Given the description of an element on the screen output the (x, y) to click on. 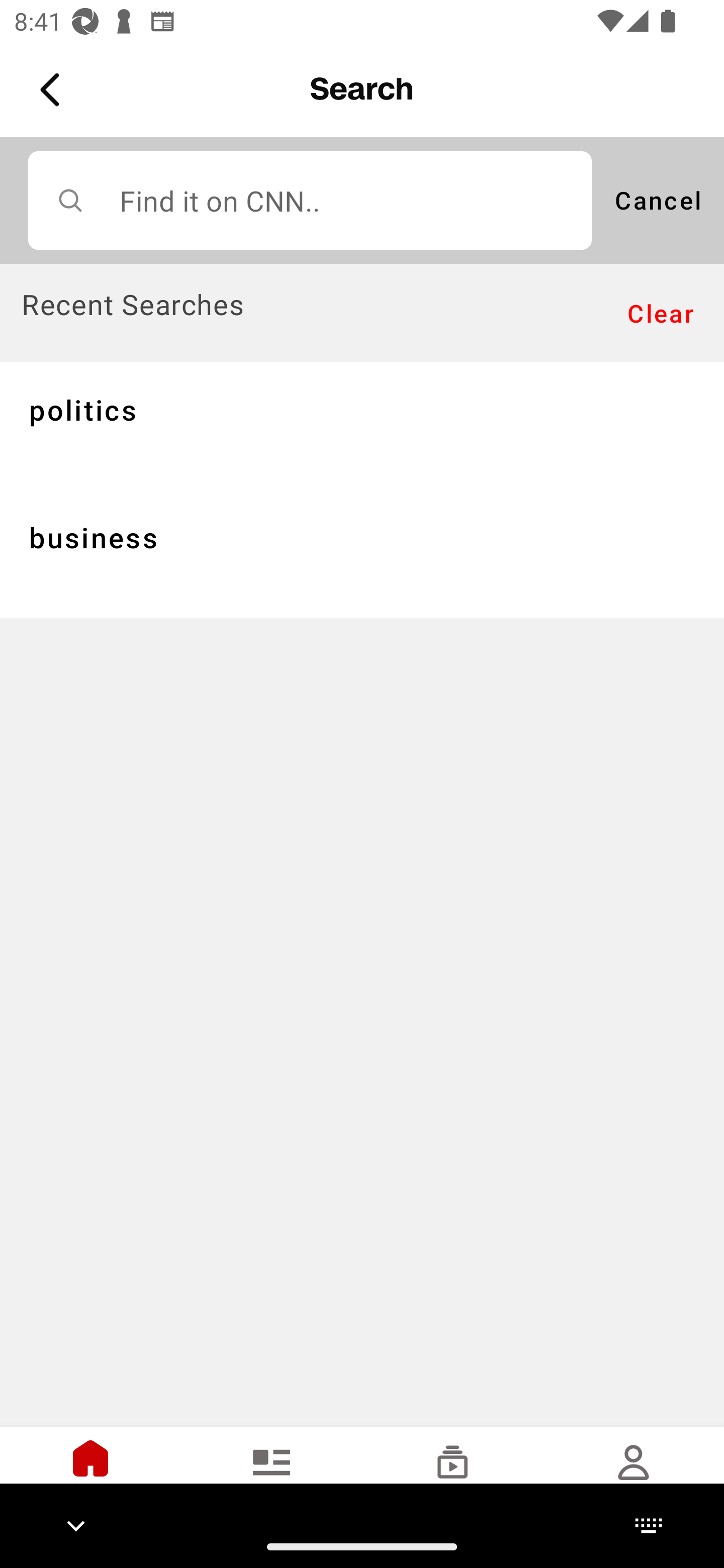
Back Button (52, 89)
Cancel (657, 199)
Find it on CNN.. (309, 199)
Clear (660, 313)
politics
 (362, 425)
business
 (362, 553)
Elections (271, 1475)
Watch (452, 1475)
Settings (633, 1475)
